Given the description of an element on the screen output the (x, y) to click on. 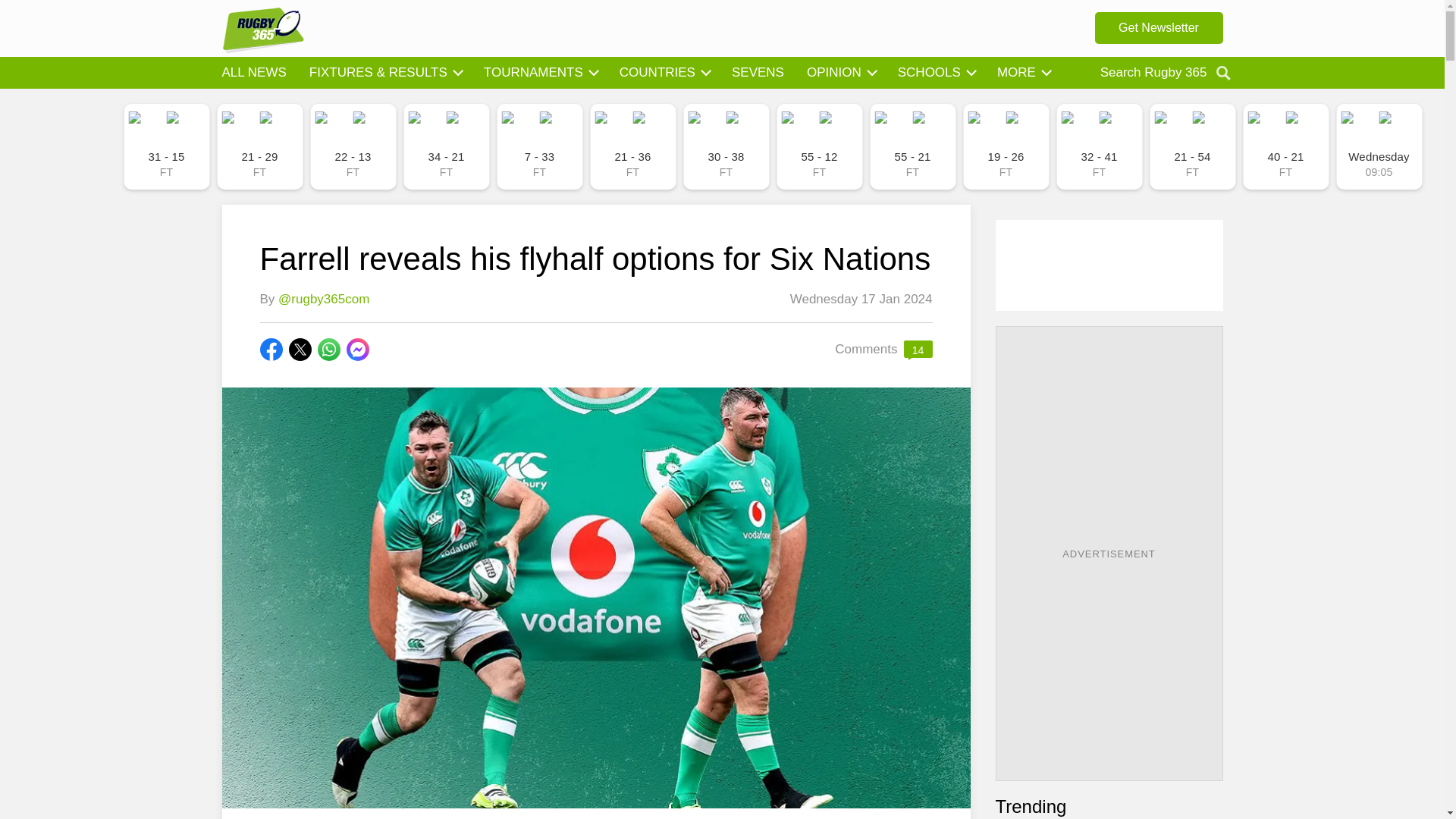
SEVENS (758, 72)
ALL NEWS (253, 72)
Get Newsletter (1158, 28)
